Given the description of an element on the screen output the (x, y) to click on. 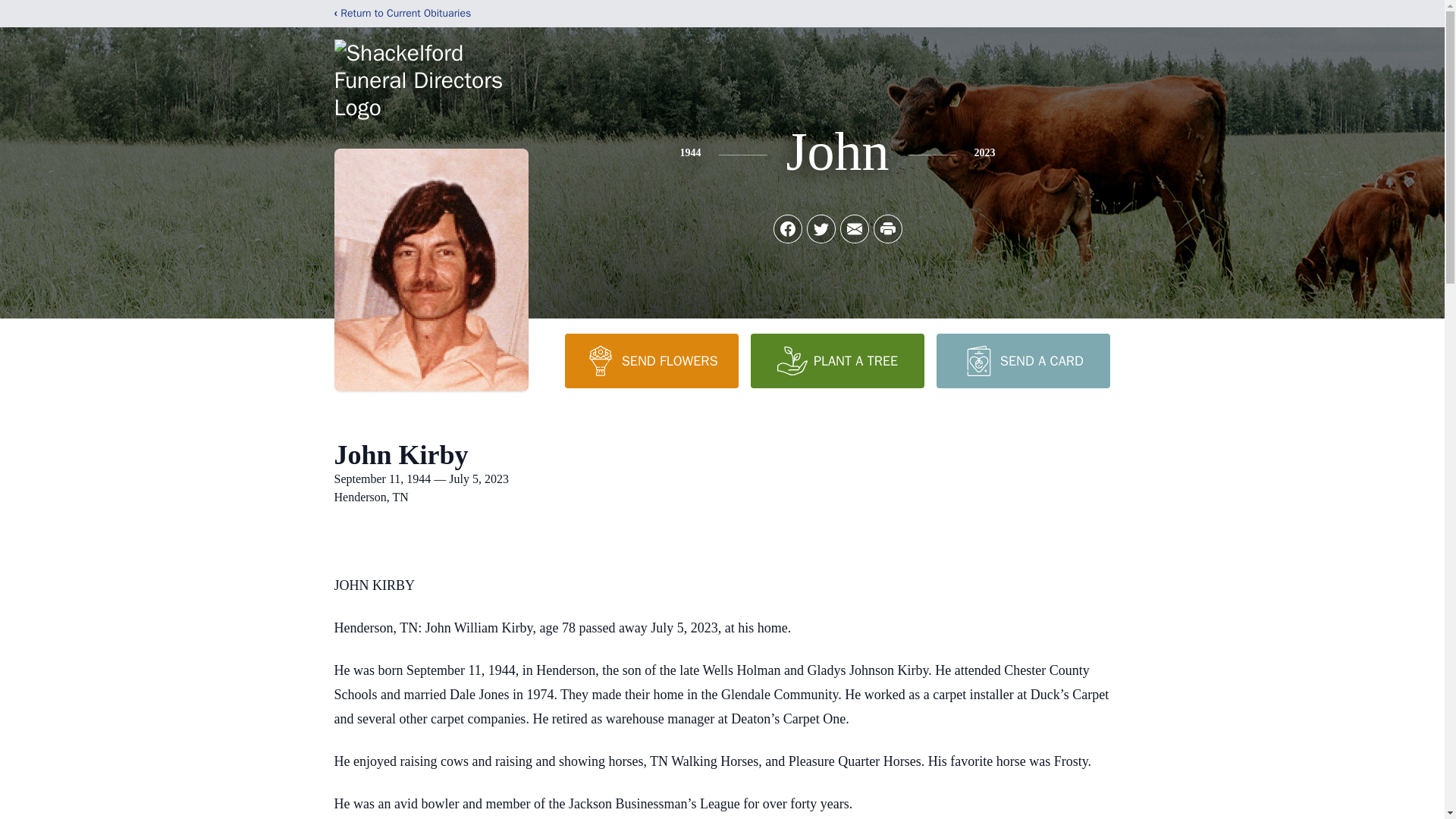
SEND A CARD (1022, 360)
SEND FLOWERS (651, 360)
PLANT A TREE (837, 360)
